Given the description of an element on the screen output the (x, y) to click on. 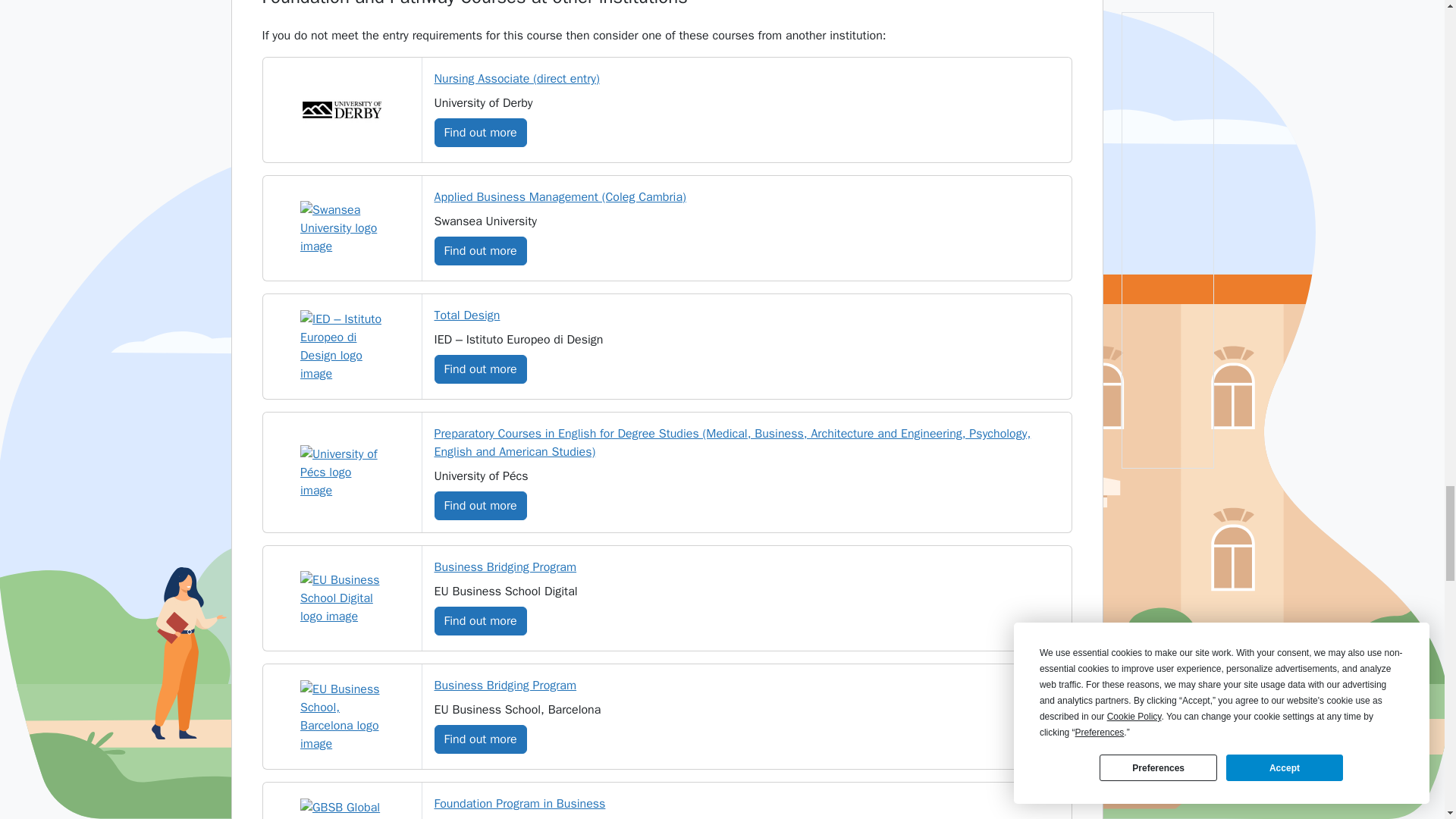
University of Derby (341, 109)
EU Business School Digital (341, 597)
EU Business School, Barcelona (341, 716)
Swansea University (341, 227)
GBSB Global Business School (341, 808)
